Given the description of an element on the screen output the (x, y) to click on. 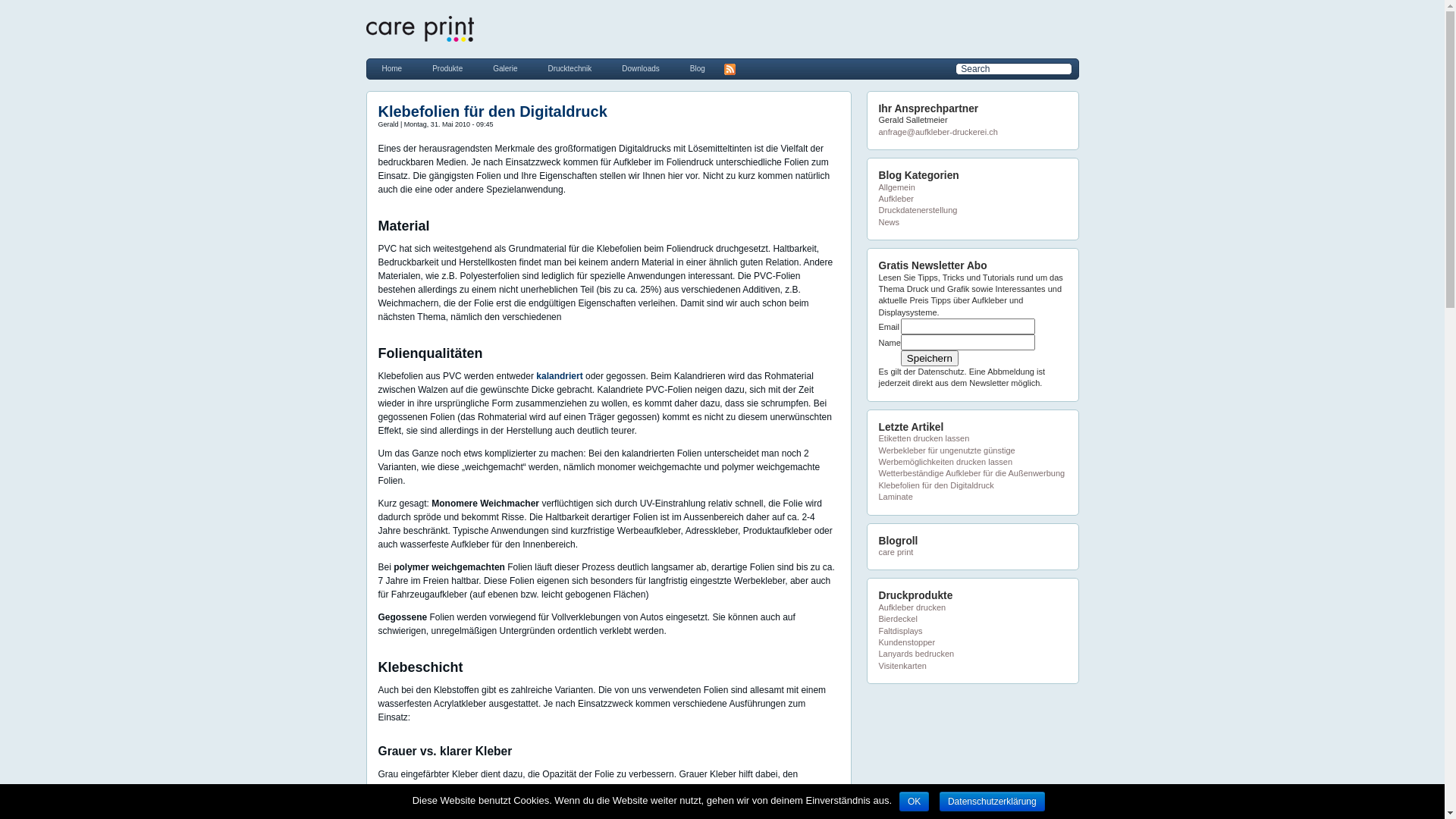
Home Element type: text (392, 68)
anfrage@aufkleber-druckerei.ch Element type: text (937, 131)
Drucktechnik Element type: text (569, 68)
Produkte Element type: text (447, 68)
Lanyards bedrucken Element type: text (915, 653)
OK Element type: text (913, 801)
Visitenkarten Element type: text (901, 665)
Etiketten drucken lassen Element type: text (923, 437)
Blog Element type: text (697, 68)
Galerie Element type: text (504, 68)
Speichern Element type: text (929, 358)
News Element type: text (888, 221)
Aufkleber drucken Element type: text (911, 606)
Bierdeckel Element type: text (897, 618)
Druckdatenerstellung Element type: text (917, 209)
Allgemein Element type: text (896, 186)
kalandriert Element type: text (559, 375)
Faltdisplays Element type: text (900, 630)
Aufkleber Element type: text (895, 198)
care print Element type: text (895, 551)
Laminate Element type: text (895, 496)
Kundenstopper Element type: text (906, 641)
Downloads Element type: text (640, 68)
